Given the description of an element on the screen output the (x, y) to click on. 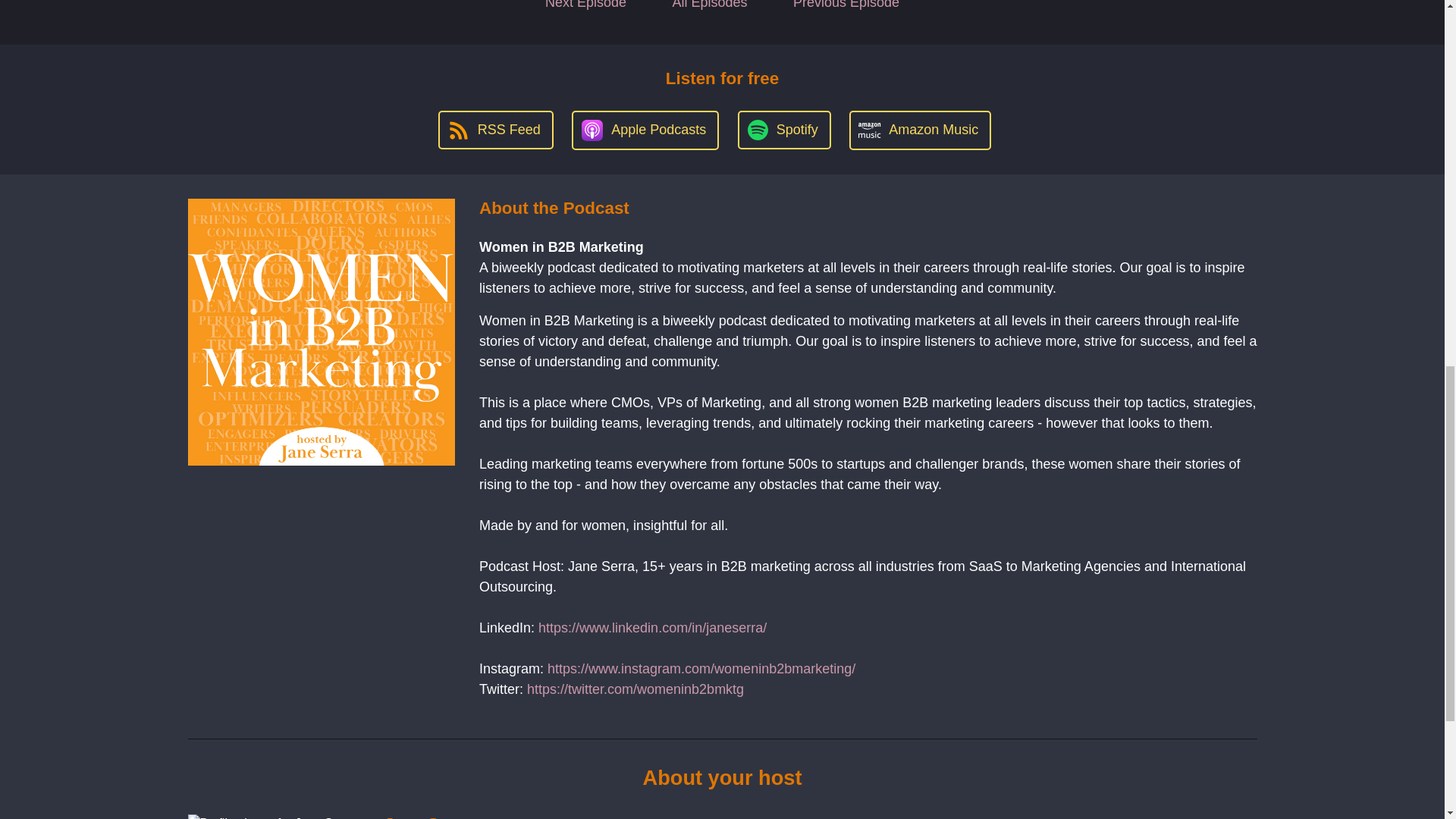
Spotify (784, 129)
Next Episode (585, 10)
RSS Feed (495, 129)
Previous Episode (845, 10)
Apple Podcasts (645, 129)
All Episodes (709, 10)
Amazon Music (919, 129)
